Given the description of an element on the screen output the (x, y) to click on. 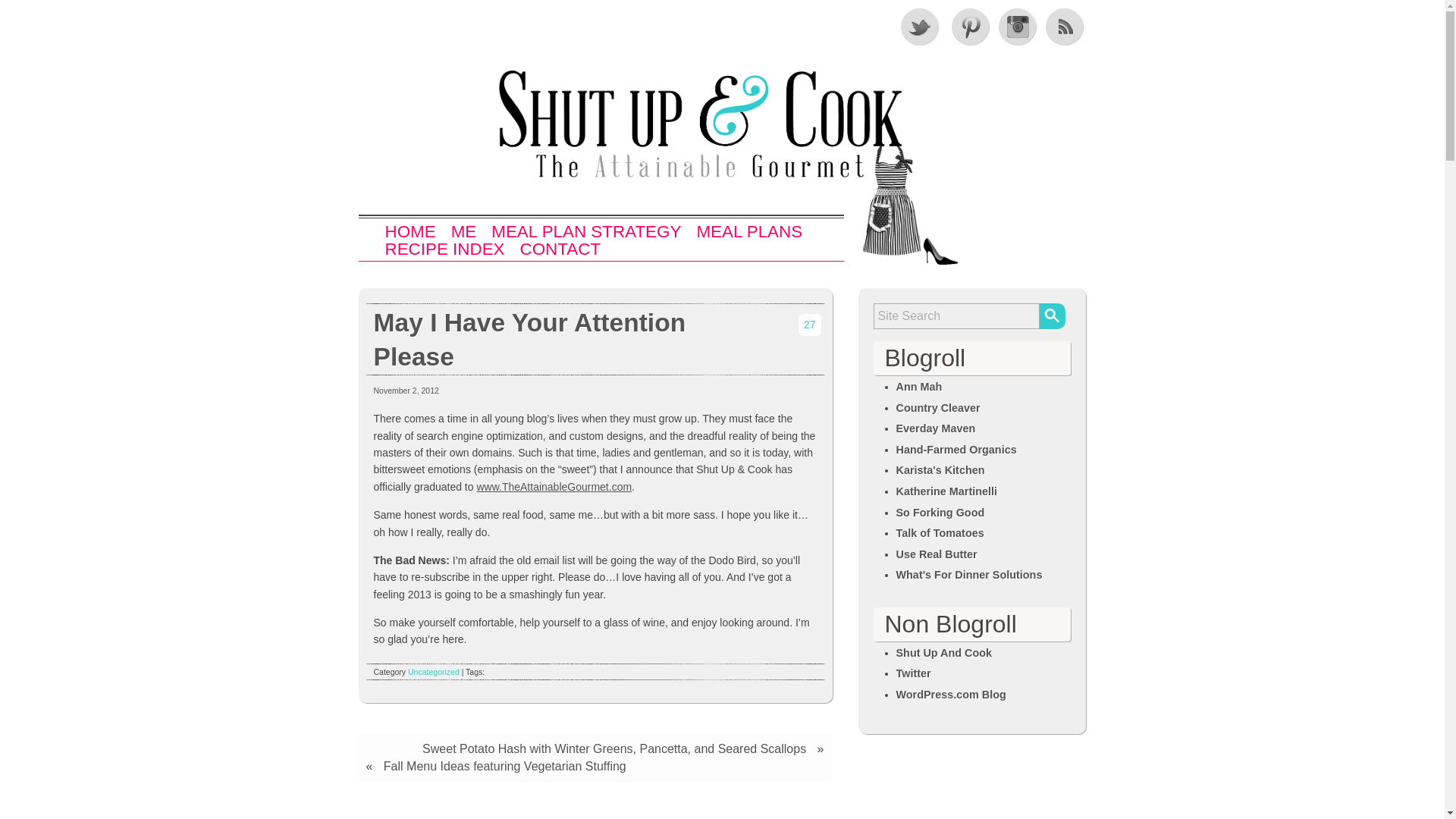
Food and Travel Writer, Photographer, Wanderer (946, 491)
A fabulous food blog, written by a great gal.  (940, 469)
Search (1051, 316)
MEAL PLANS (748, 231)
ME (464, 231)
Need I say more? (936, 553)
November 2, 2012 (405, 389)
Adventures in Food, France and Beyond (919, 386)
Pinterest (967, 26)
